Given the description of an element on the screen output the (x, y) to click on. 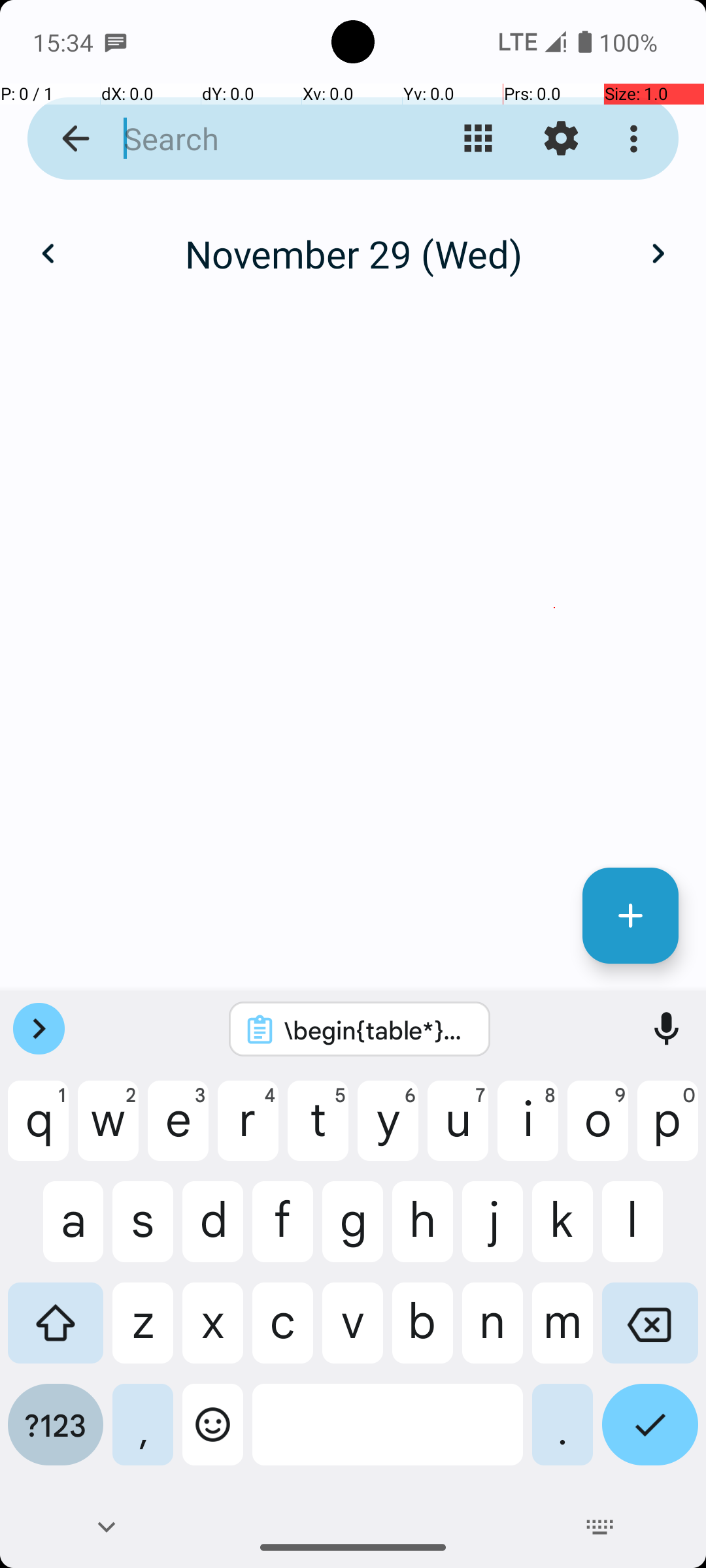
December Element type: android.widget.TextView (352, 239)
November 29 (Wed) Element type: android.widget.TextView (352, 253)
\begin{table*}[t!] \centering \renewcommand\arraystretch{1.1} \tabcolsep=0.05cm {\fontsize{10pt}{12pt}\selectfont \begin{tabular}{cccccccccc} \hline % \toprule          \multirow{2}{*}{LVLMs} & \multirow{2}{*}{\parbox{1.5cm}{\centering Model\\Size}}   & \multirow{2}{*}{\parbox{1.5cm}{\centering GUI\\Specific}} & \multicolumn{2}{c}{Mobile}        & \multicolumn{2}{c}{Desktop}       & \multicolumn{2}{c}{Web}           & \multirow{2}{*}{Average} \\ \cline{4-9}          &    &                               & Text            & Icon/Widget     & Text            & Icon/Widget     & Text            & Icon/Widget     &                          \\  % \midrule \hline MiniGPT-v2     & 7B   & \textcolor{darkred}{\ding{55}}                              &  8.4\%               & 6.6\%                & 6.2\%                & 2.9\%                & 6.5\%                & 3.4\%                & 5.7\%                         \\ Qwen-VL  & 9.6B   & \textcolor{darkred}{\ding{55}}                             & 9.5\%           & 4.8\%           & 5.7\%           & 5.0\%           & 3.5\%           & 2.4\%           & 5.2\%                    \\  GPT-4V   & -    & \textcolor{darkred}{\ding{55}}     & 22.6\%    & 24.5\%    & 20.2\%    & 11.8\%    &9.2\%  & 8.8\%     & 16.2\% \\ \hline Fuyu     & 8B   & \textcolor{darkgreen}{\ding{51}}                               & 41.0\%          & 1.3\%           & 33.0\%          & 3.6\%           & 33.9\%          & 4.4\%           & 19.5\%                   \\ CogAgent & 18B   & \textcolor{darkgreen}{\ding{51}}                               & 67.0\%          & 24.0\%          & \textbf{74.2\%} & 20.0\%          & \textbf{70.4\%} & 28.6\% & 47.4\%                   \\ \seek & 9.6B   & \textcolor{darkgreen}{\ding{51}}                              & \textbf{78.0\%} & \textbf{52.0\%} & 72.2\%          & \textbf{30.0\%} & 55.7\%          & \textbf{32.5\%} & \textbf{53.4\%}          \\  \hline % \bottomrule \end{tabular} } \caption{Results of different LVLMs on \seesp. The best results in each column are highlighted in \textbf{bold}. Benefiting from efficient GUI grounding pre-training, \seek significantly enhanced LVLMs' ability to locate GUI elements following instructions, and surpassed the strong baseline CogAgent with a smaller model size.} \label{tab:screenspot} \vspace{-1.0em} \end{table*} Element type: android.widget.TextView (376, 1029)
